Given the description of an element on the screen output the (x, y) to click on. 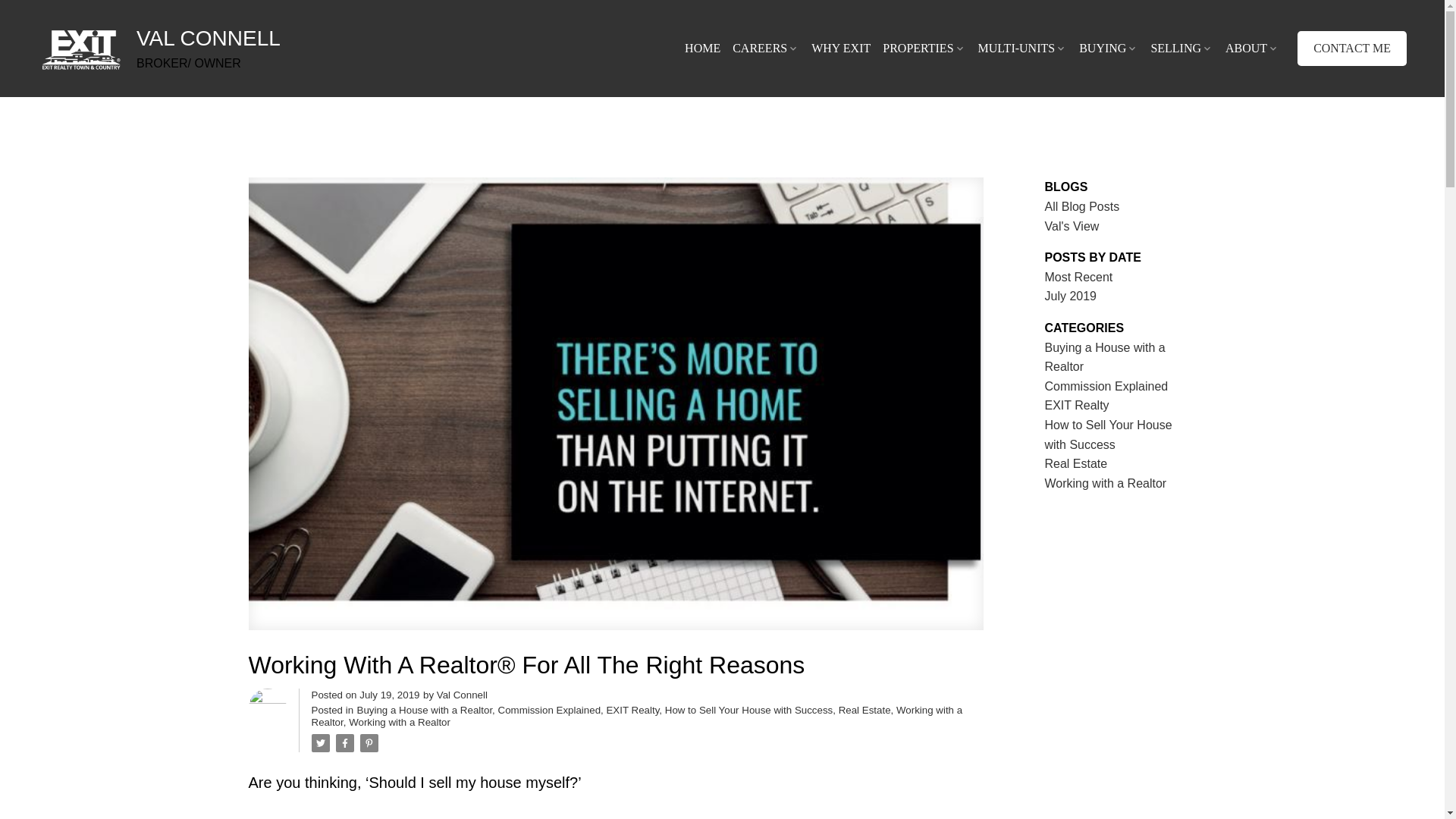
WHY EXIT (840, 48)
CAREERS (765, 48)
HOME (702, 48)
